Given the description of an element on the screen output the (x, y) to click on. 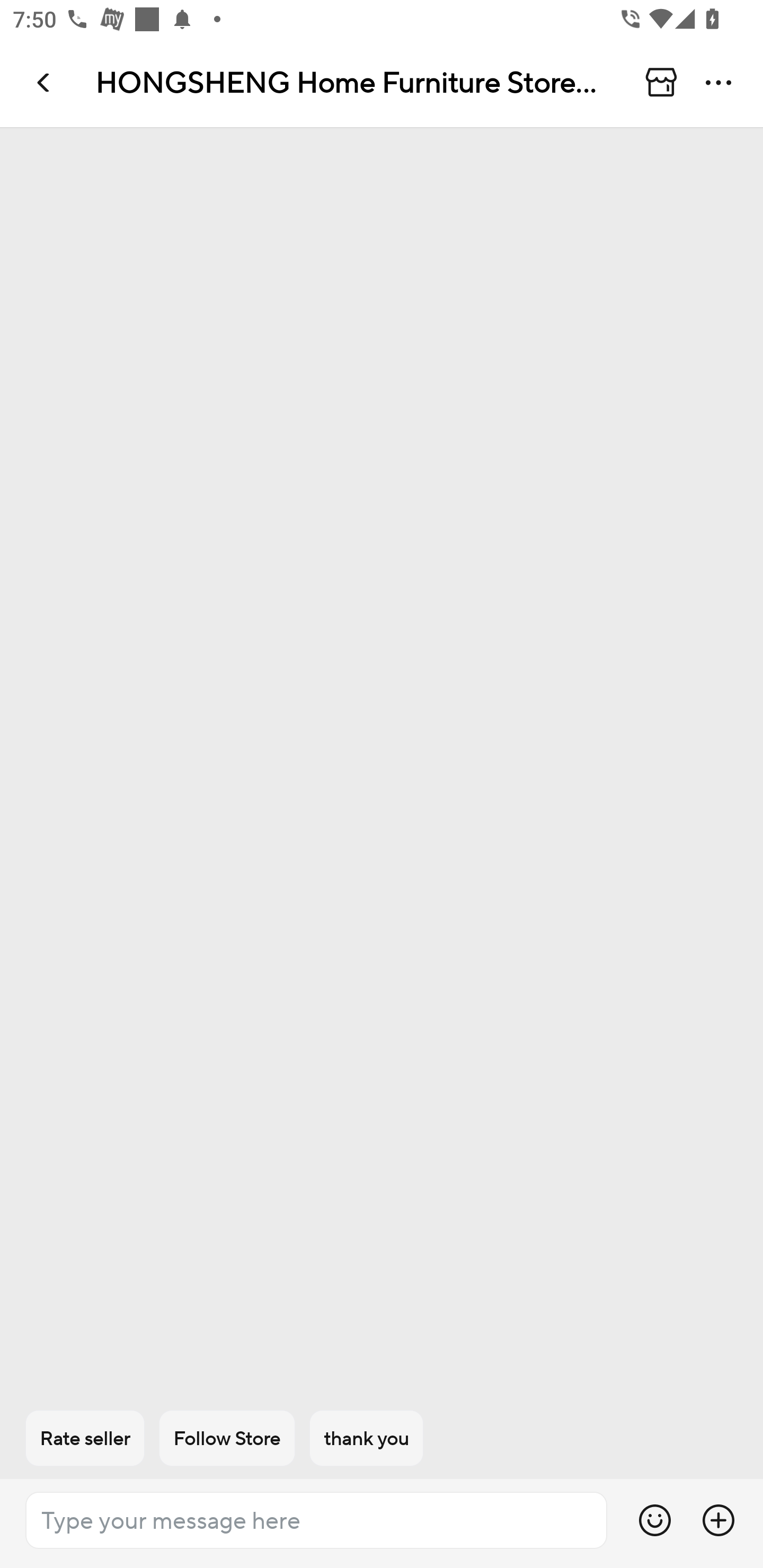
Navigate up (44, 82)
Rate seller (84, 1437)
Follow Store (226, 1437)
thank you (366, 1437)
Type your message here (316, 1520)
